Given the description of an element on the screen output the (x, y) to click on. 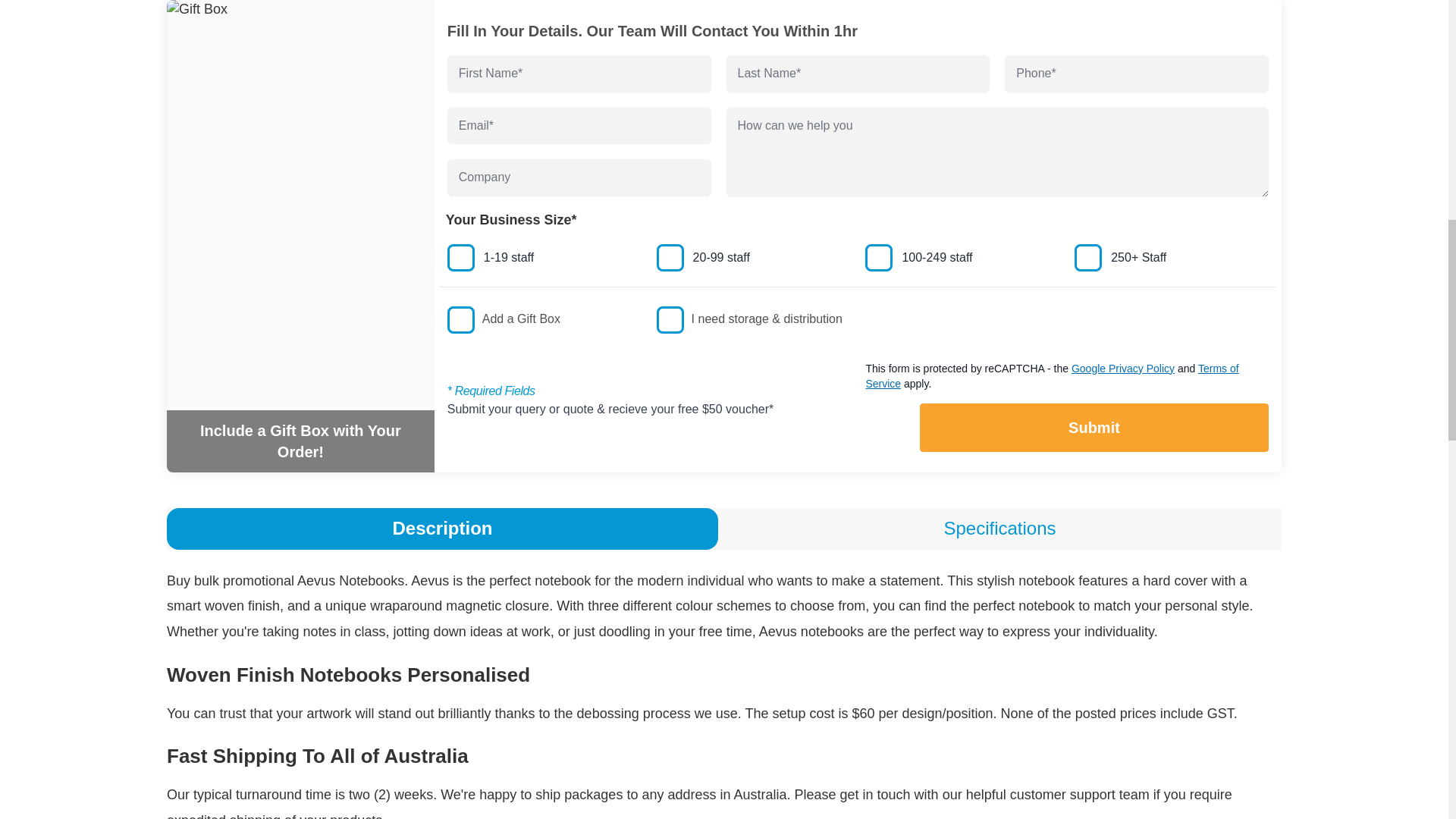
First Name (578, 73)
Last Name (858, 73)
1 (460, 257)
7 (878, 257)
10 (1088, 257)
4 (670, 257)
